Given the description of an element on the screen output the (x, y) to click on. 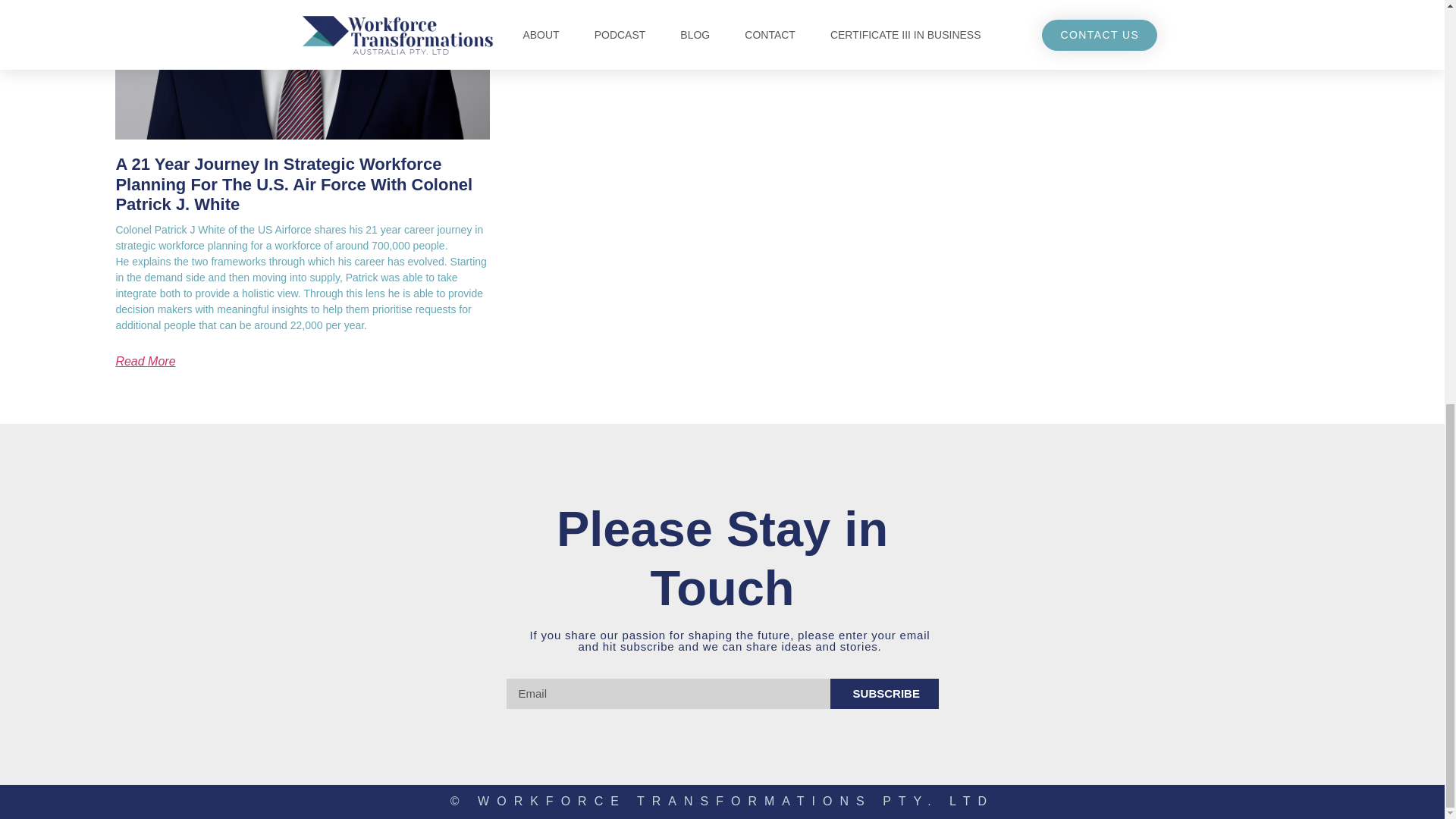
Read More (144, 360)
SUBSCRIBE (884, 693)
